Given the description of an element on the screen output the (x, y) to click on. 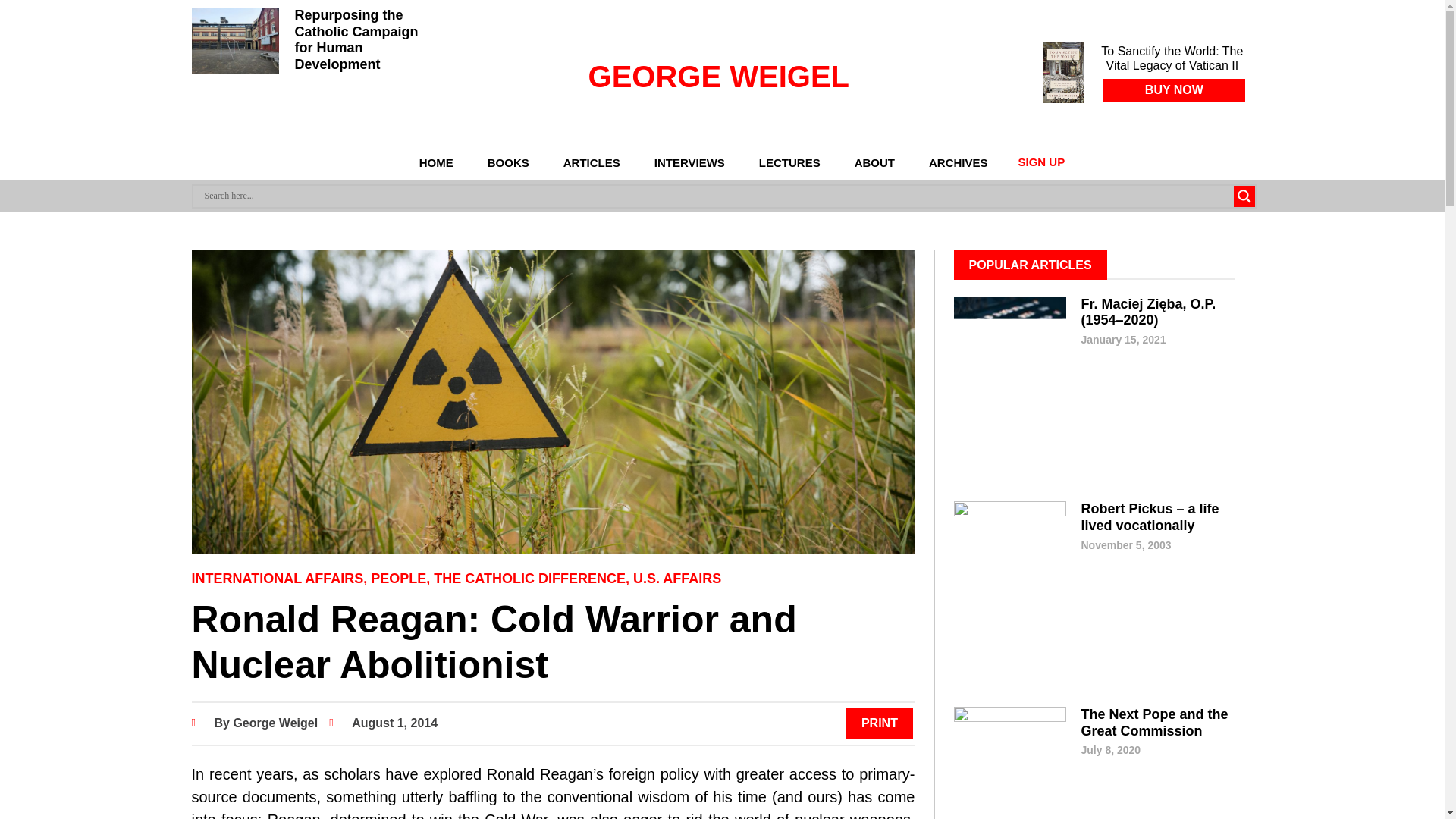
GEORGE WEIGEL (718, 76)
BUY NOW (1173, 89)
Repurposing the Catholic Campaign for Human Development (355, 39)
